Given the description of an element on the screen output the (x, y) to click on. 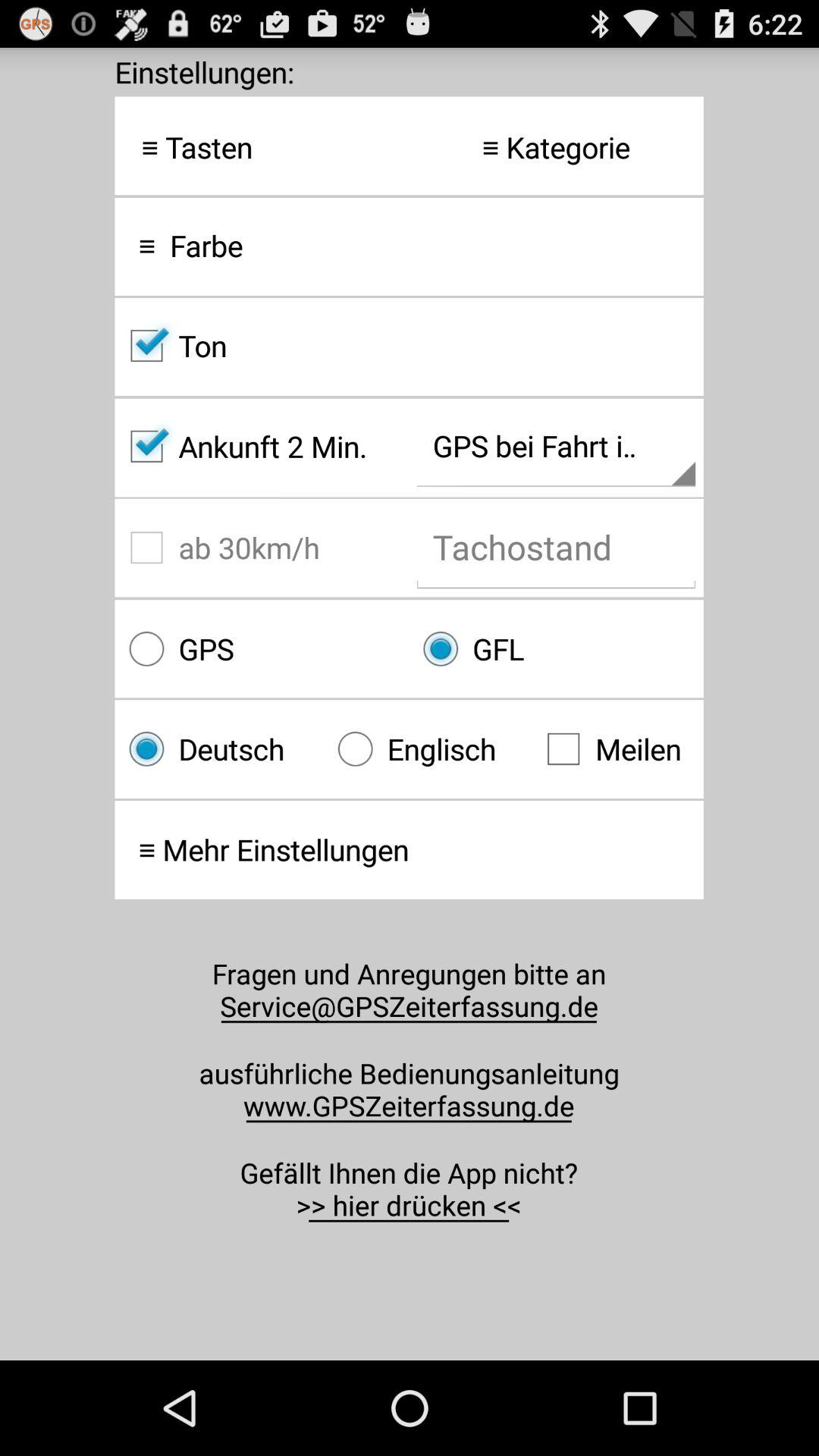
press the meilen item (617, 748)
